Given the description of an element on the screen output the (x, y) to click on. 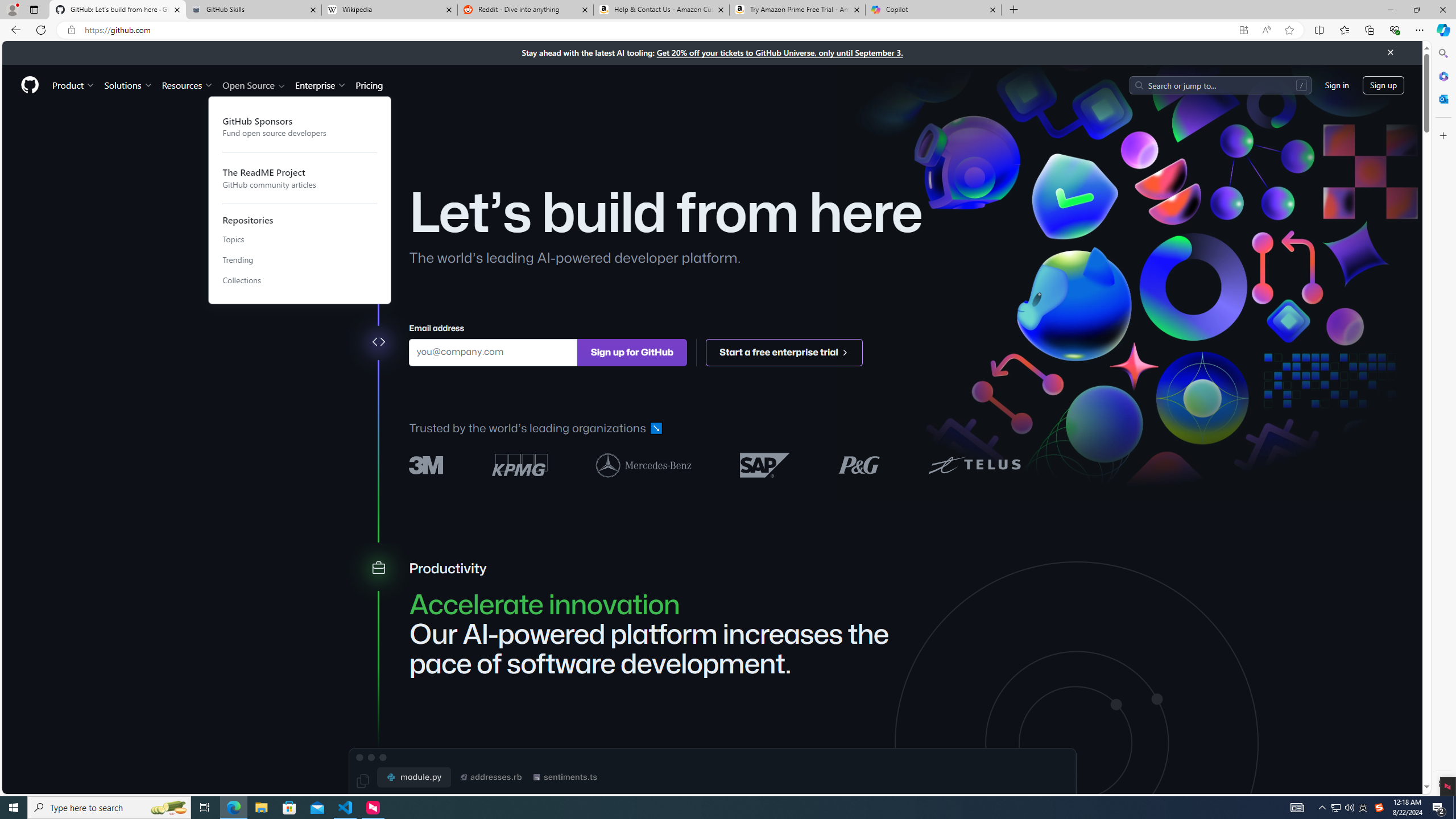
Topics (299, 239)
Close Outlook pane (1442, 98)
SAP logo (764, 464)
Sign up for GitHub (631, 352)
Sign in (1336, 84)
Product (74, 84)
Class: octicon arrow-symbol-mktg (845, 352)
Solutions (128, 84)
Trending (299, 259)
Resources (187, 84)
GitHub SponsorsFund open source developers (299, 126)
